Given the description of an element on the screen output the (x, y) to click on. 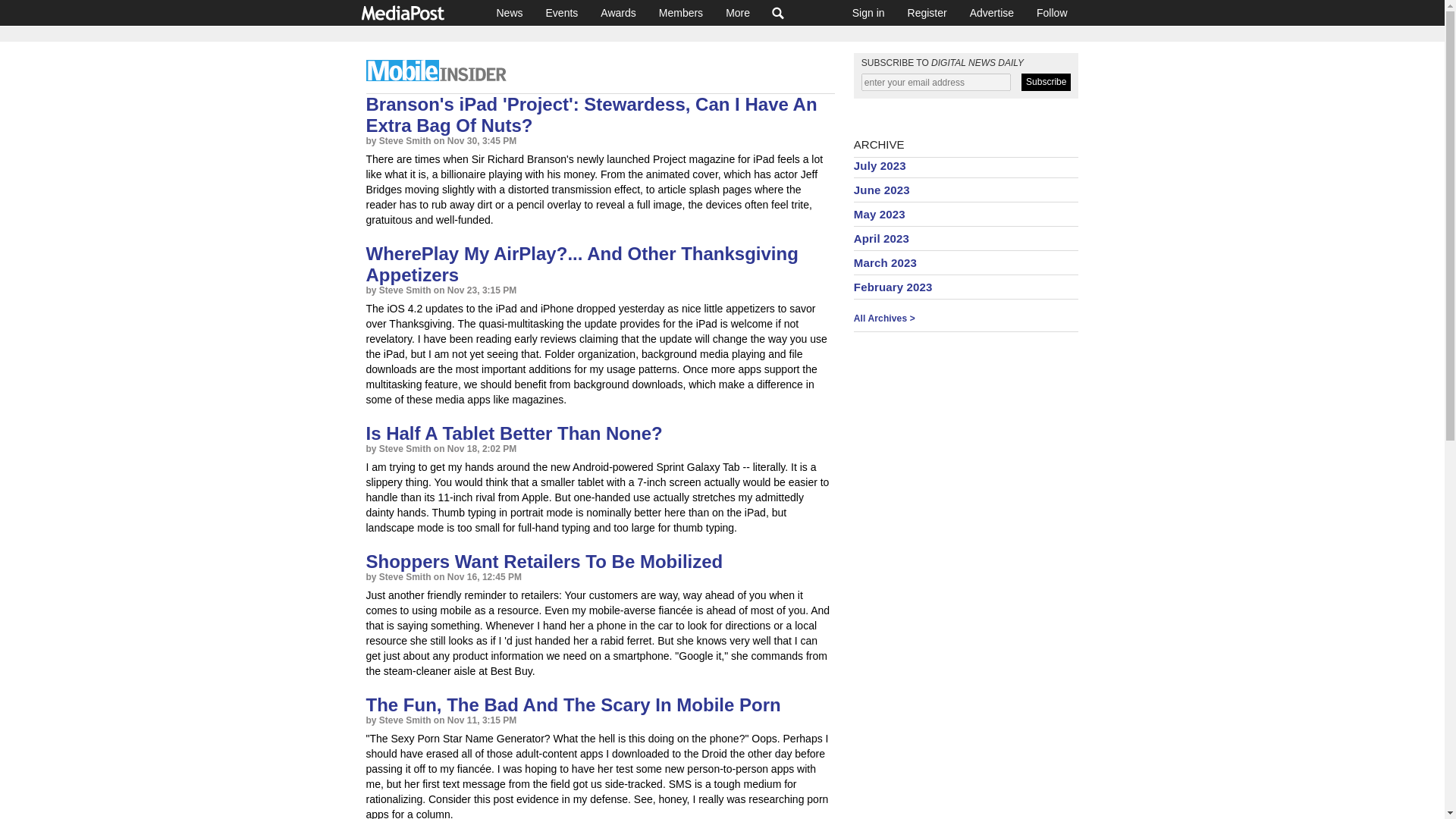
Subscribe (1046, 81)
News (509, 12)
